Given the description of an element on the screen output the (x, y) to click on. 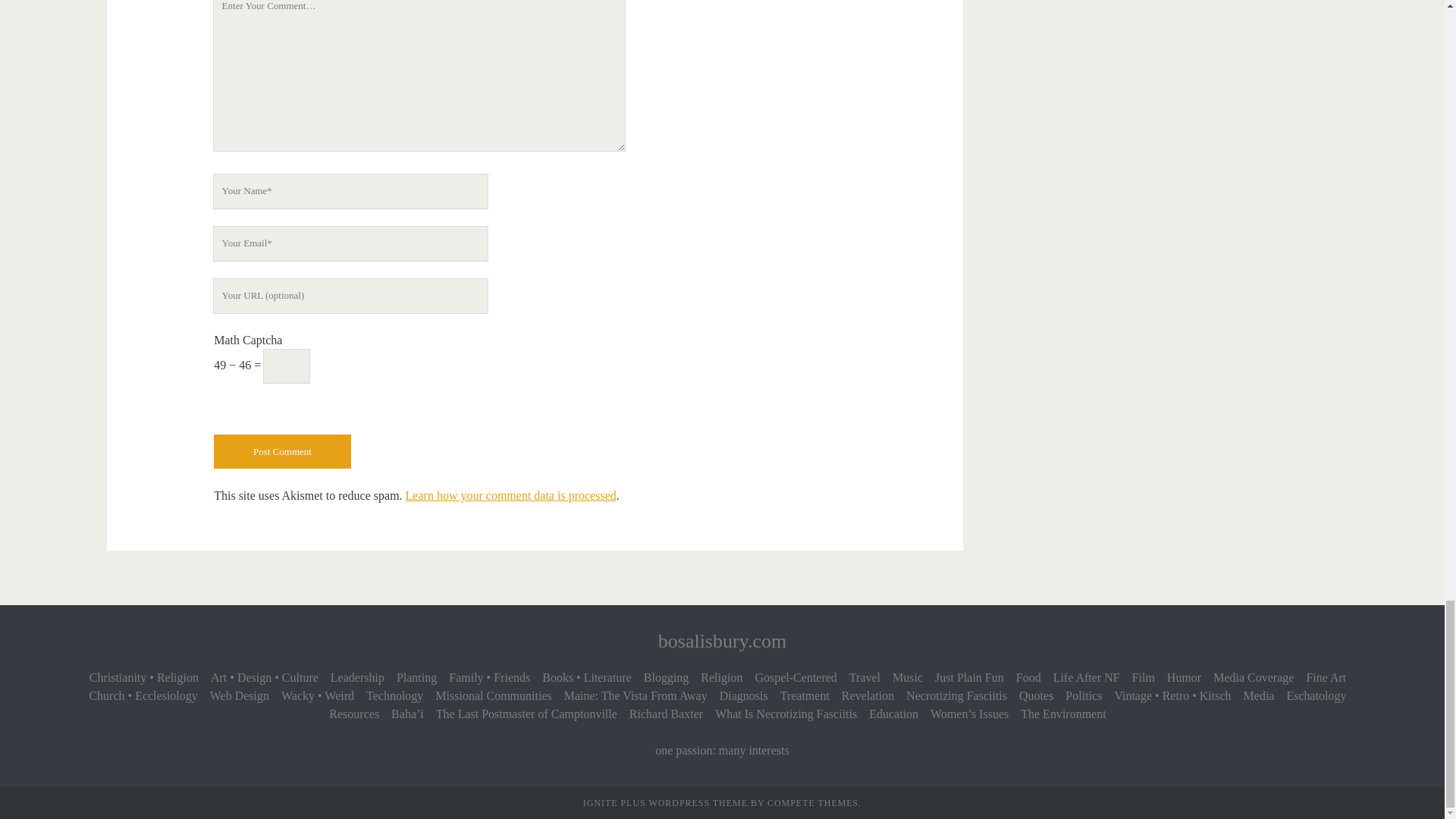
Post Comment (282, 451)
